Given the description of an element on the screen output the (x, y) to click on. 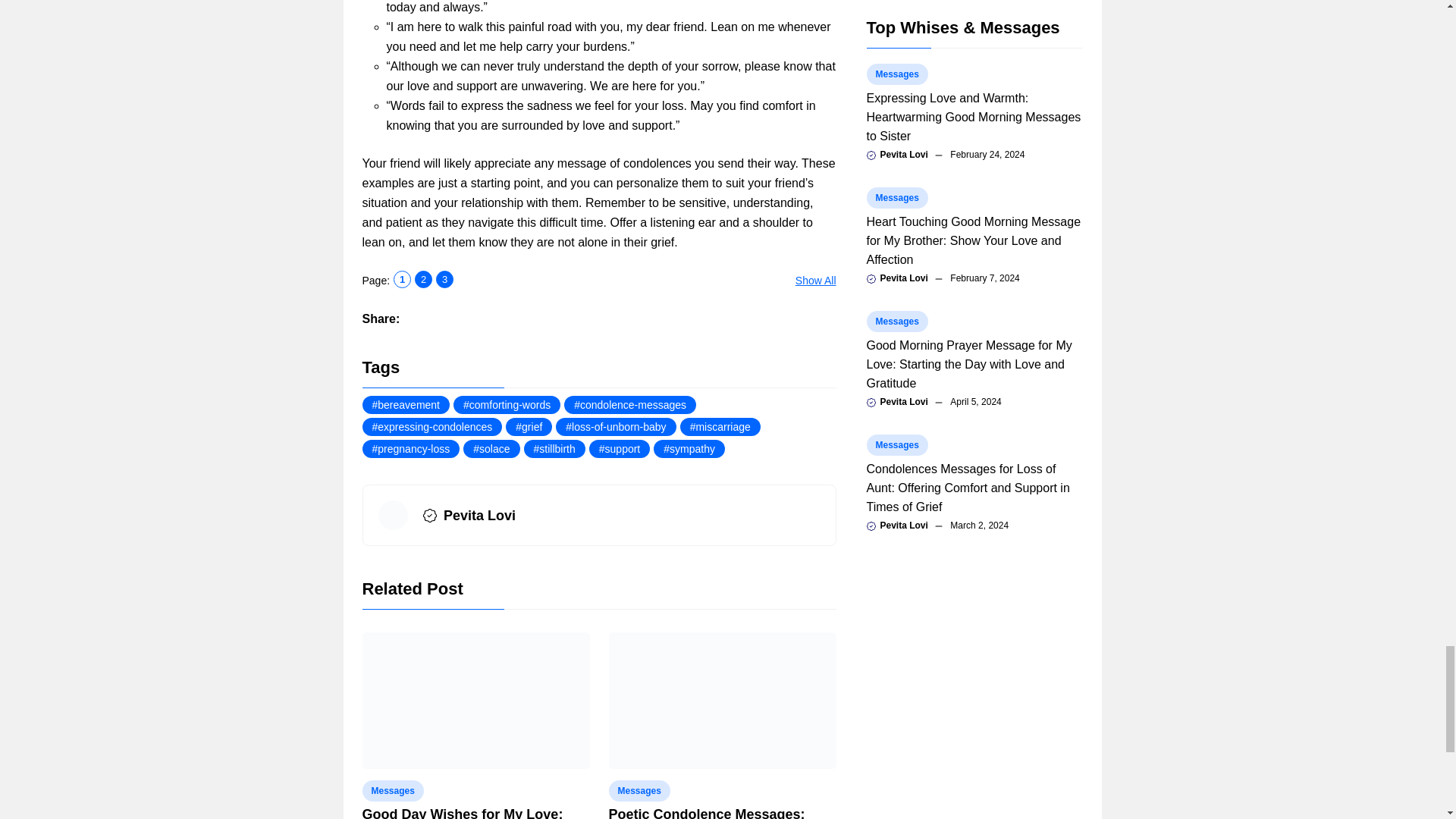
2 (423, 279)
3 (443, 279)
bereavement (405, 404)
Pevita Lovi (479, 515)
loss-of-unborn-baby (615, 426)
condolence-messages (629, 404)
Messages (638, 790)
pregnancy-loss (411, 448)
solace (491, 448)
